Given the description of an element on the screen output the (x, y) to click on. 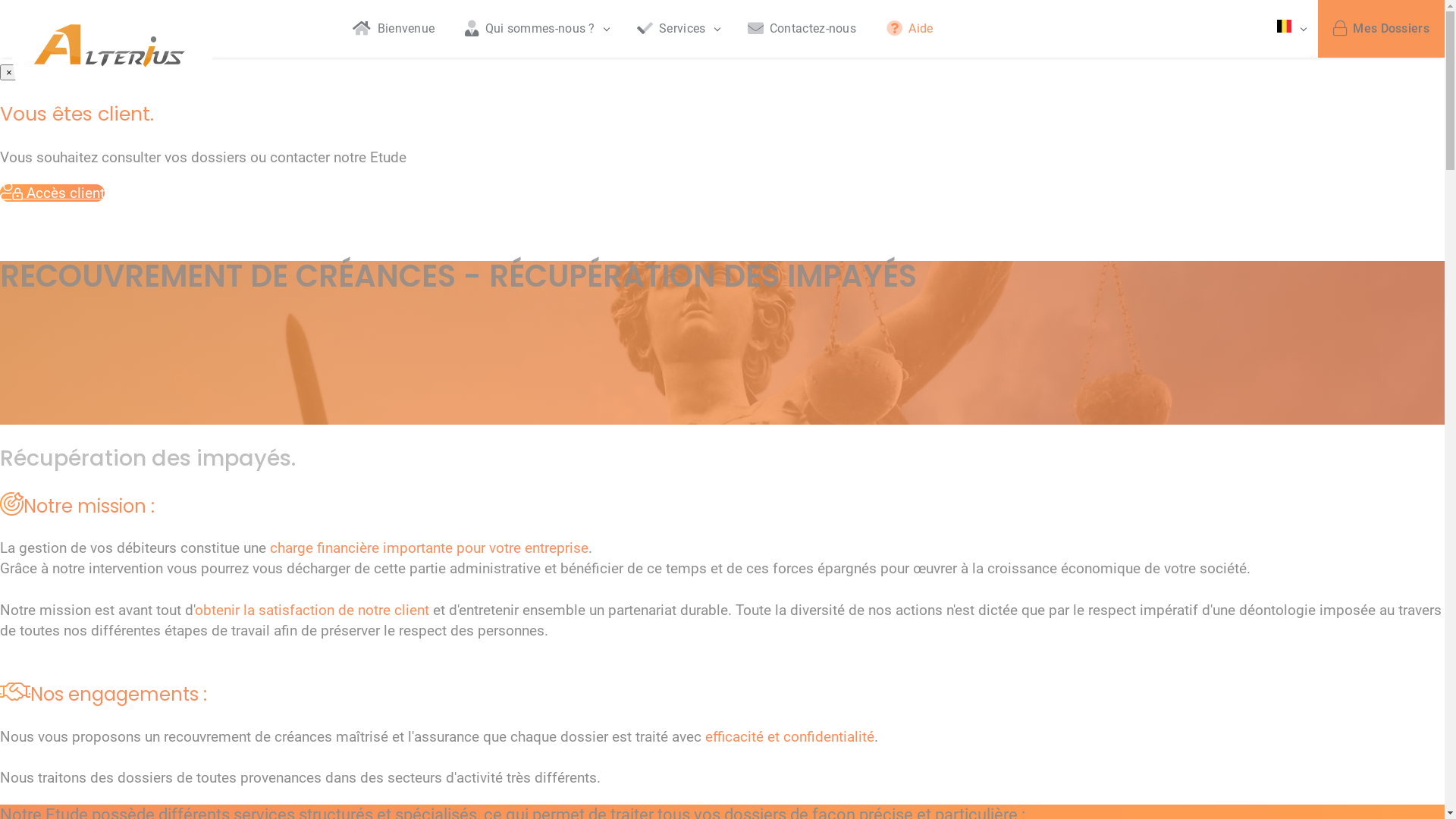
Aide Element type: text (909, 28)
Contactez-nous Element type: text (802, 28)
Mes Dossiers Element type: text (1380, 28)
Bienvenue Element type: text (393, 28)
Qui sommes-nous ? Element type: text (535, 28)
Services Element type: text (676, 28)
